Given the description of an element on the screen output the (x, y) to click on. 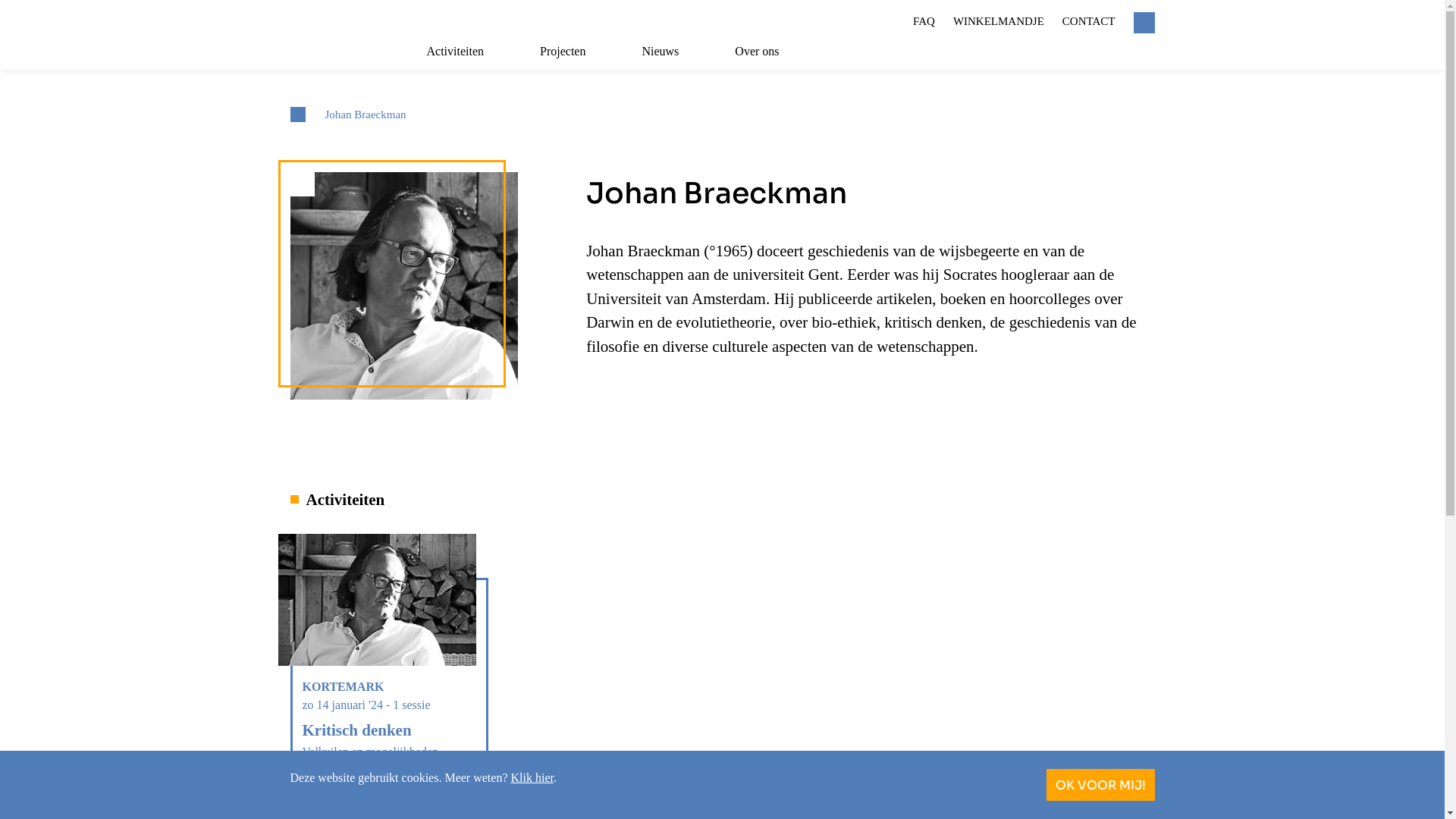
OK VOOR MIJ! Element type: text (1100, 784)
Johan Braeckman Element type: text (364, 114)
Projecten Element type: text (570, 55)
CONTACT Element type: text (1088, 21)
WINKELMANDJE Element type: text (998, 21)
Activiteiten Element type: text (463, 55)
Klik hier Element type: text (532, 777)
Over ons Element type: text (764, 55)
FAQ Element type: text (924, 21)
Nieuws Element type: text (668, 55)
